Given the description of an element on the screen output the (x, y) to click on. 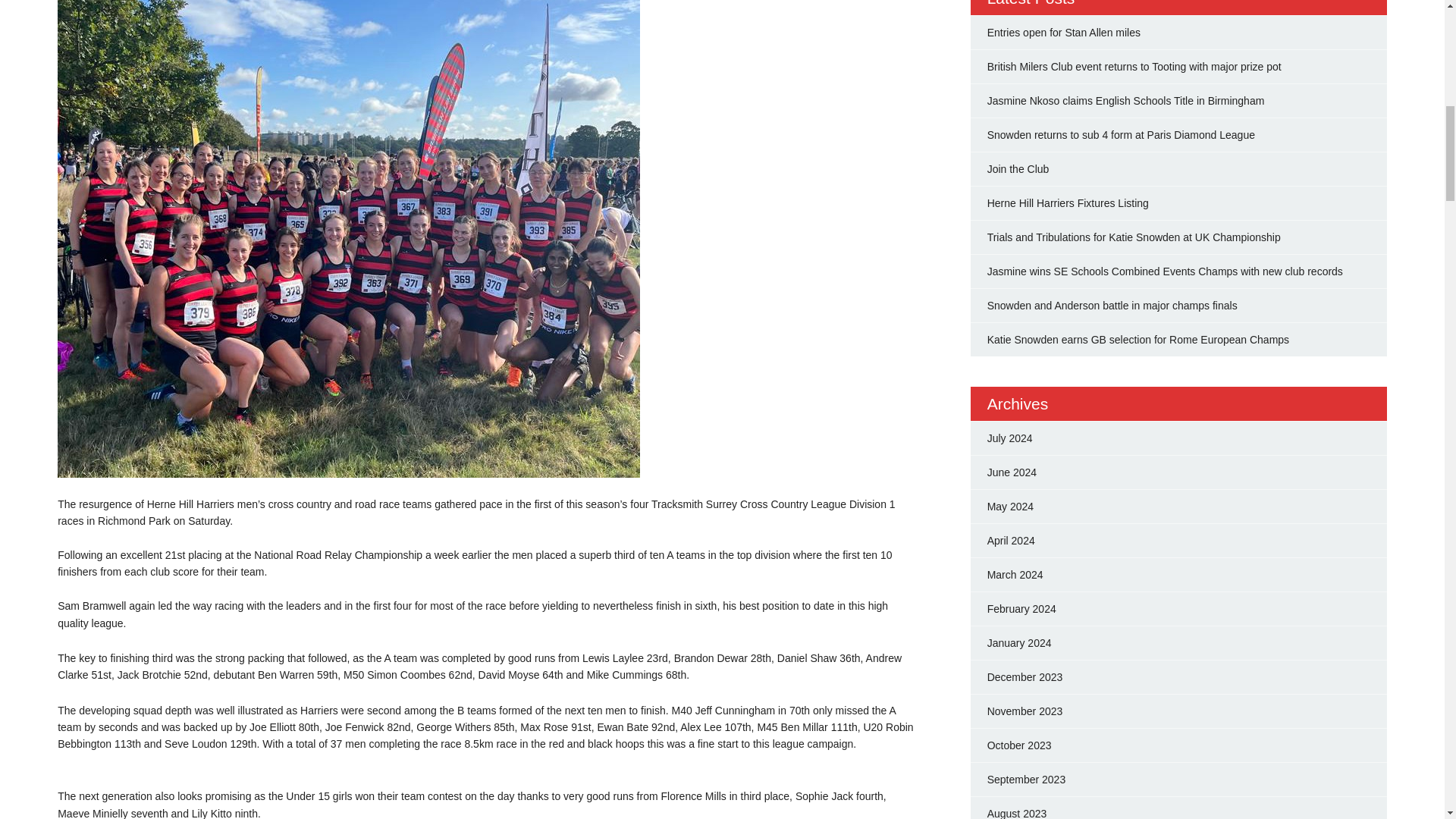
Look Join the Club (1018, 168)
Look Entries open for Stan Allen miles (1063, 32)
Look Herne Hill Harriers Fixtures Listing (1067, 203)
